Given the description of an element on the screen output the (x, y) to click on. 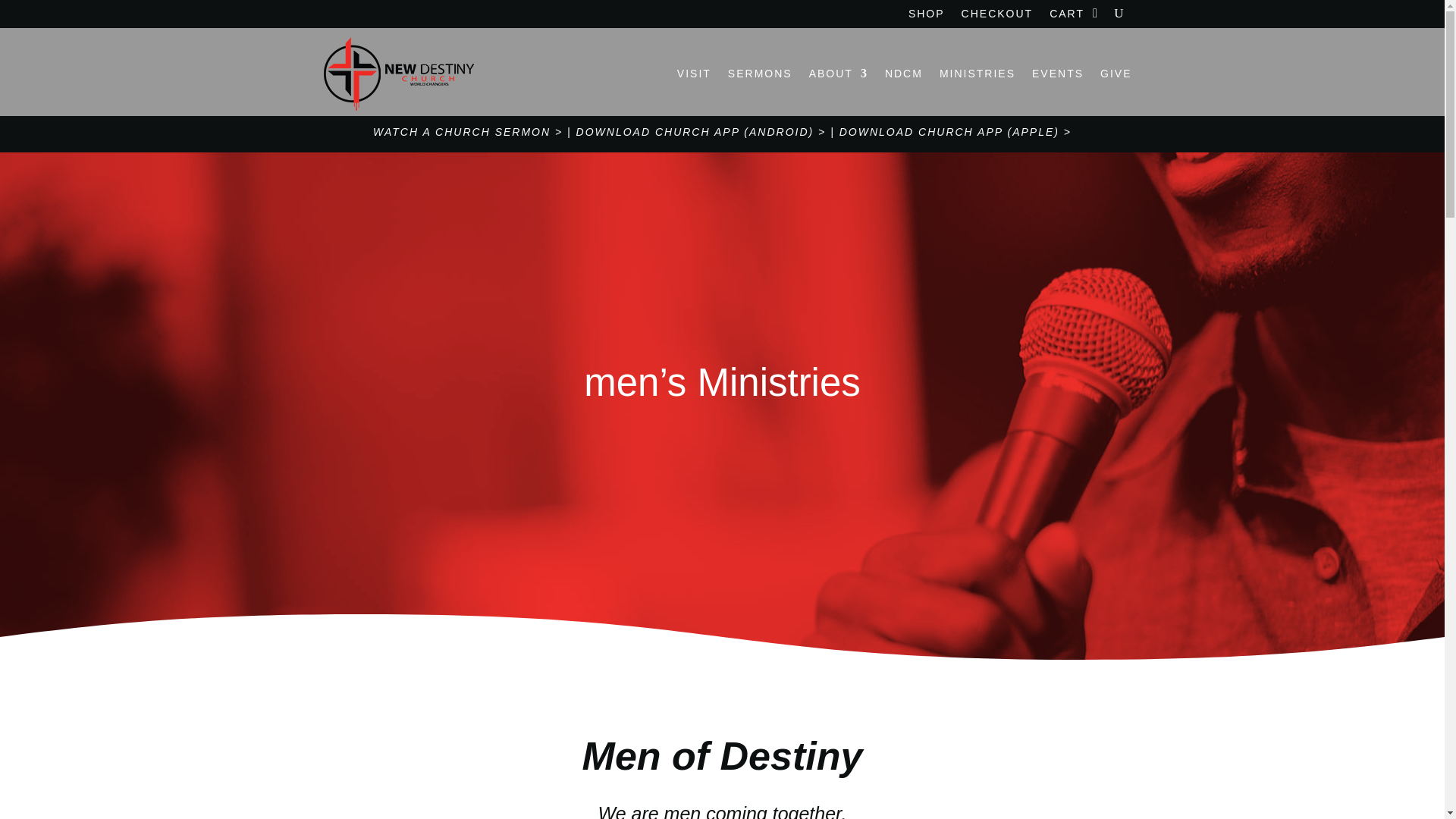
SHOP (926, 16)
CART (1066, 16)
CHECKOUT (996, 16)
